Given the description of an element on the screen output the (x, y) to click on. 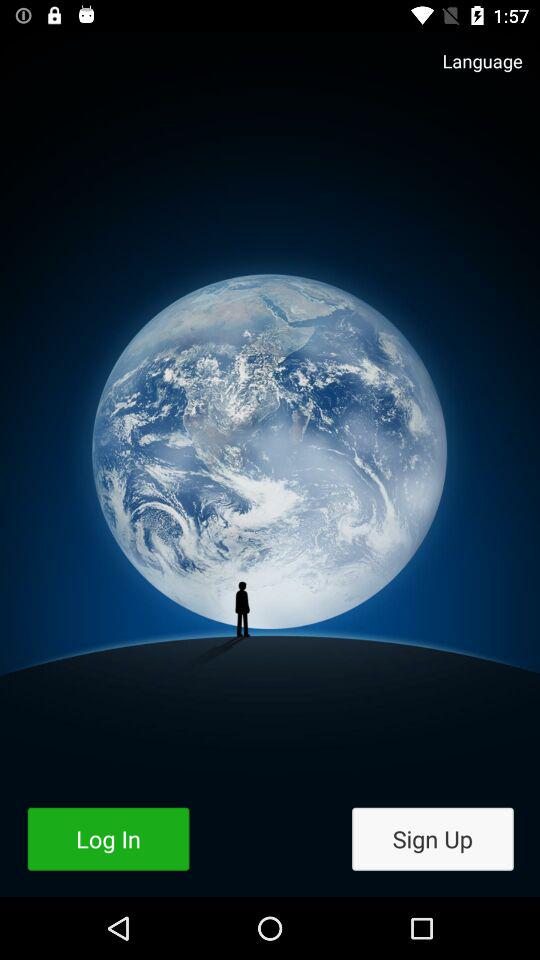
press the sign up (432, 838)
